Given the description of an element on the screen output the (x, y) to click on. 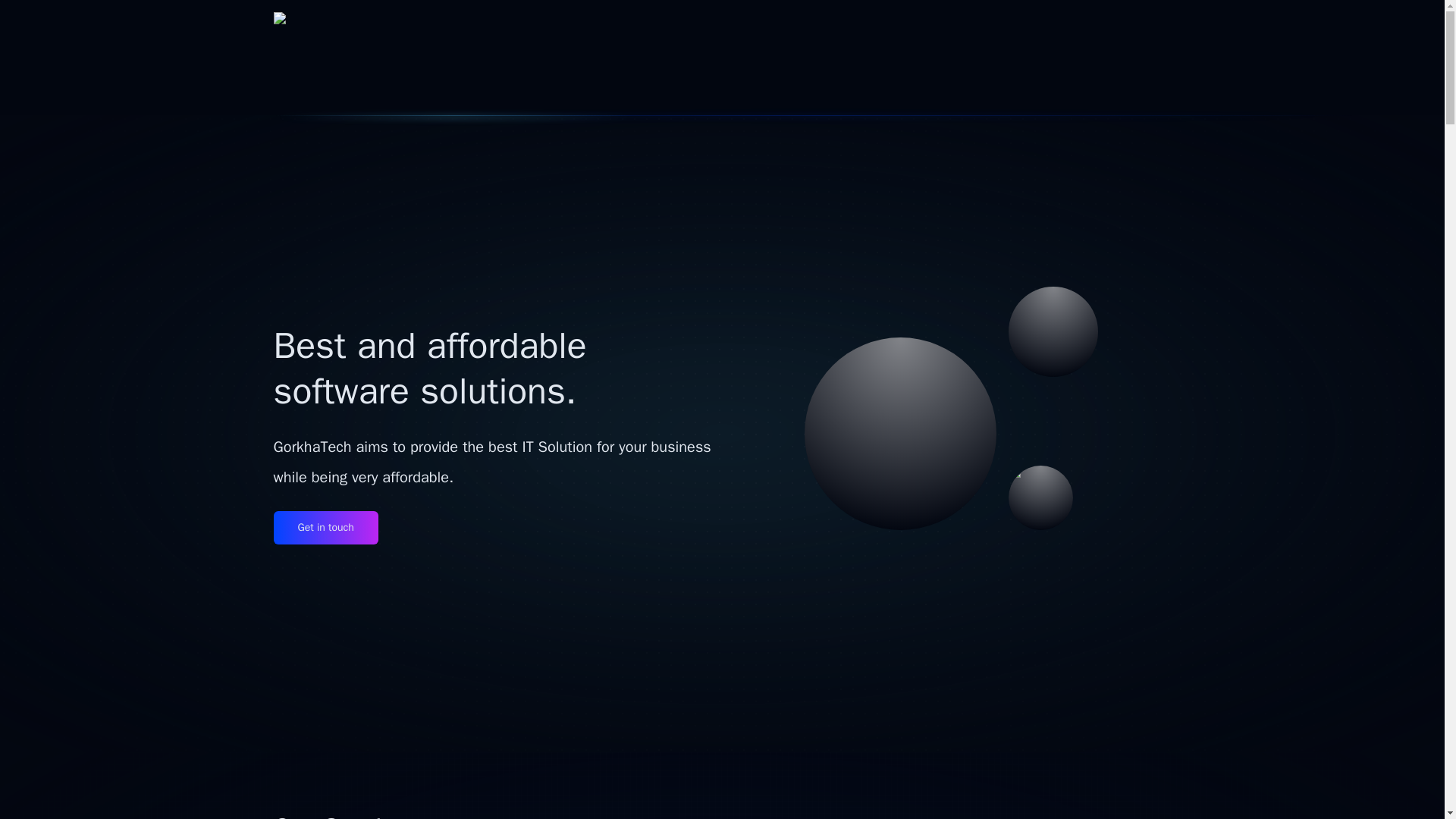
Get in touch (325, 527)
